Given the description of an element on the screen output the (x, y) to click on. 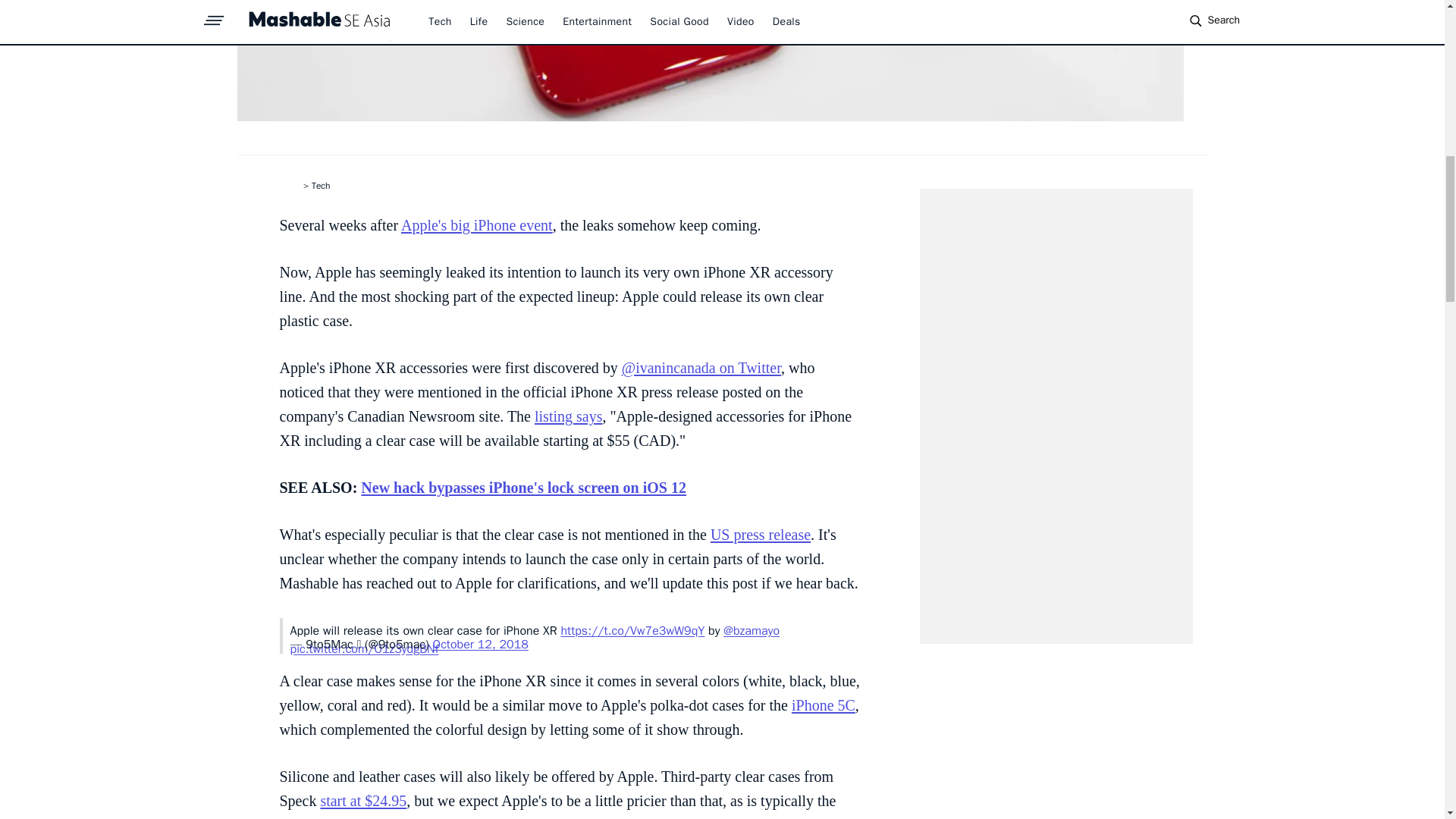
iPhone 5C (824, 704)
US press release (760, 534)
October 12, 2018 (480, 644)
listing says (568, 416)
New hack bypasses iPhone's lock screen on iOS 12 (523, 487)
Apple's big iPhone event (477, 225)
